Given the description of an element on the screen output the (x, y) to click on. 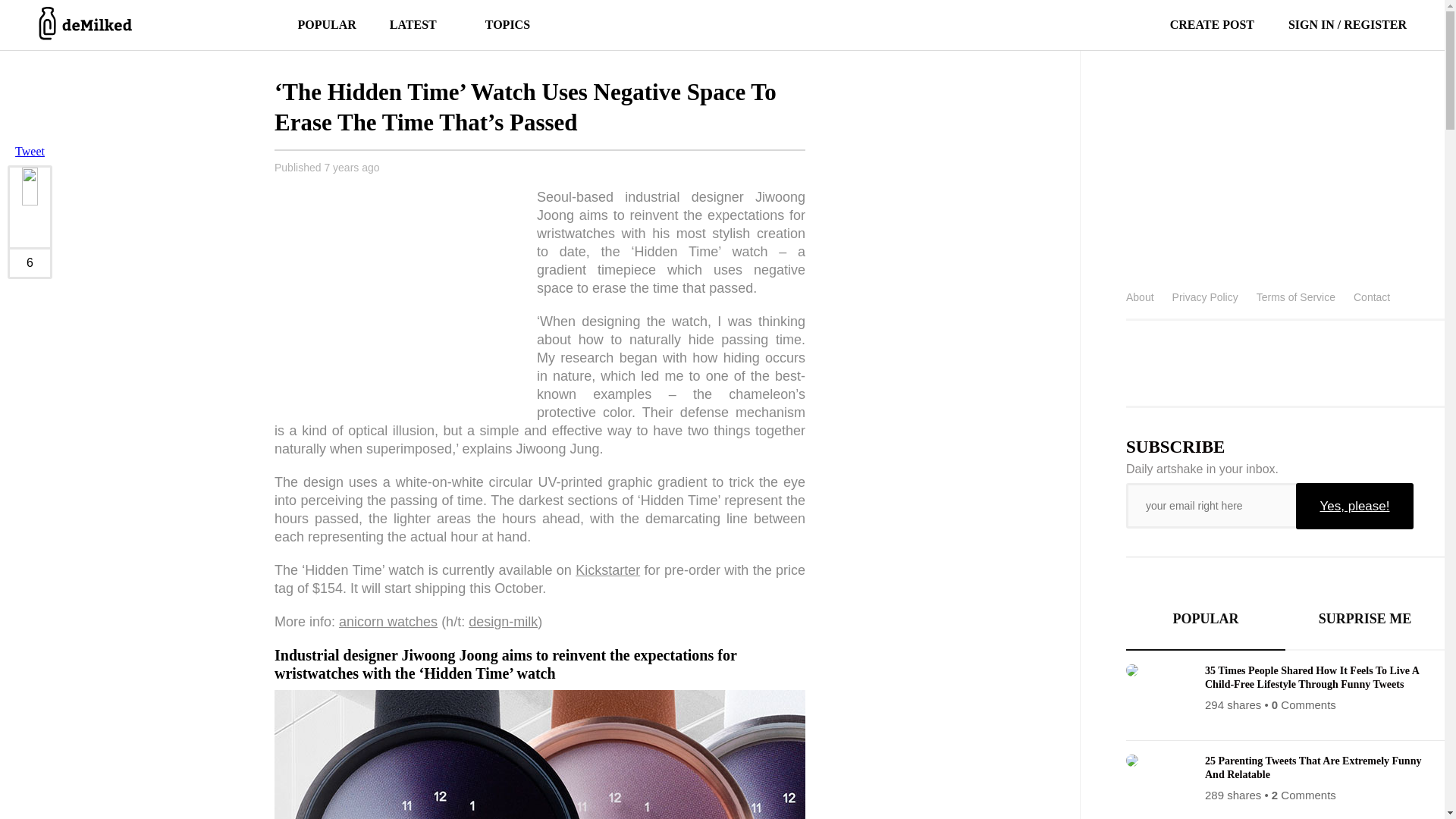
CREATE POST (1194, 24)
LATEST (413, 24)
POPULAR (326, 24)
TOPICS (499, 24)
